Given the description of an element on the screen output the (x, y) to click on. 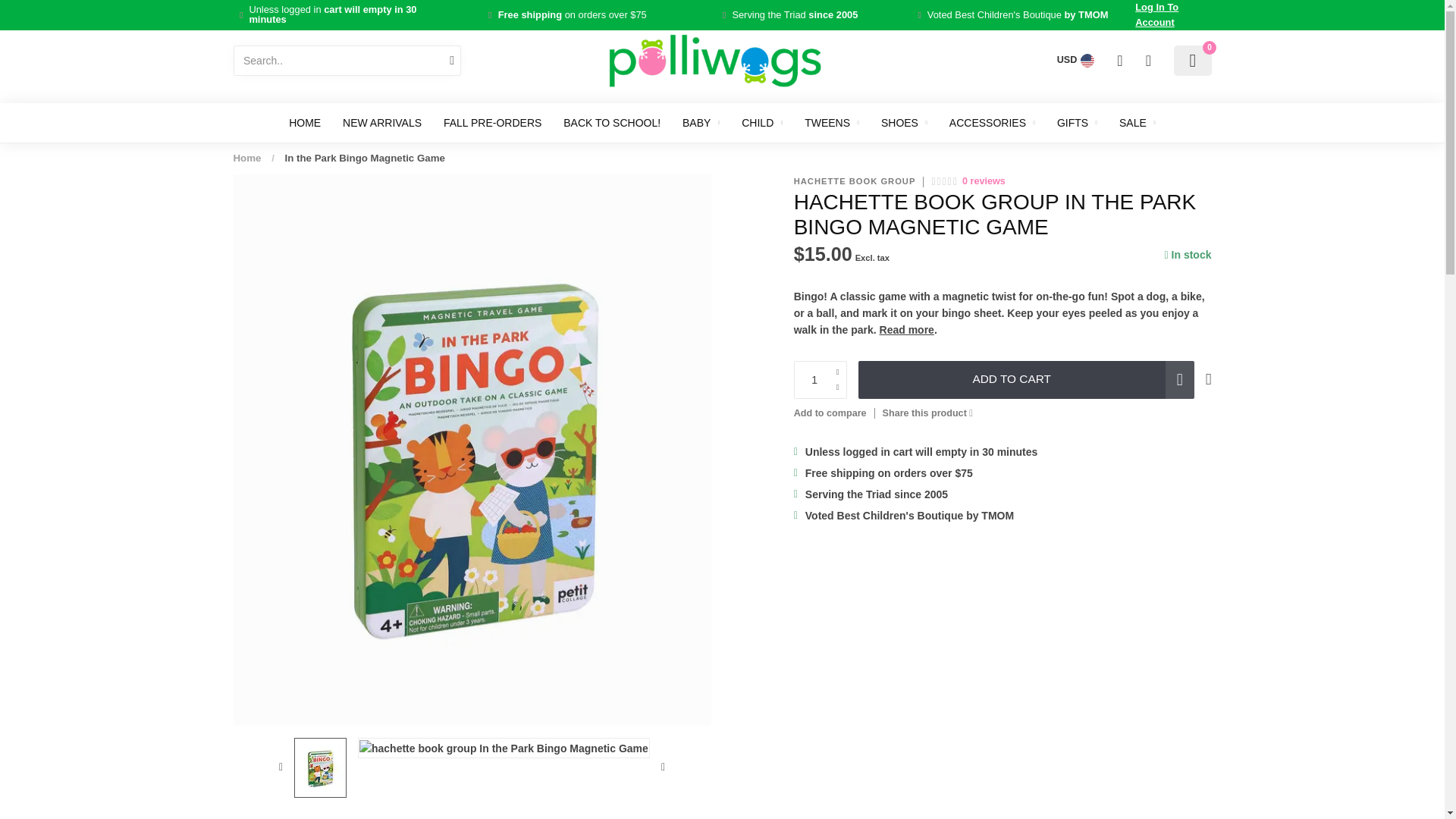
1 (820, 379)
CHILD (762, 122)
TWEENS (832, 122)
BACK TO SCHOOL! (612, 122)
Log In To Account (1173, 15)
NEW ARRIVALS (382, 122)
FALL PRE-ORDERS (492, 122)
BABY (700, 122)
0 (1192, 60)
Home (247, 157)
